Given the description of an element on the screen output the (x, y) to click on. 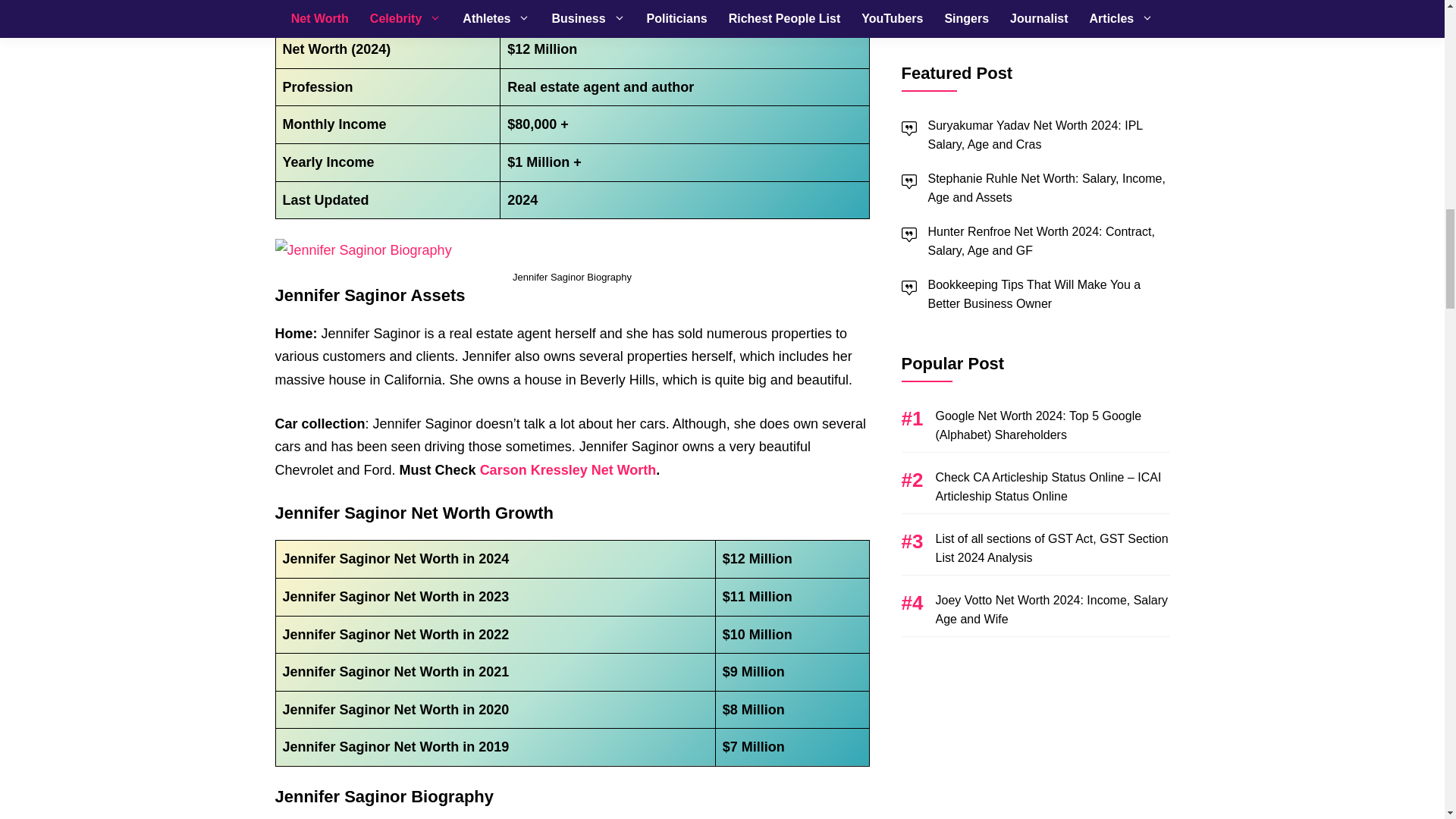
Jennifer Saginor Net Worth 2024: Age, Earnings, Wife and Car (363, 250)
